Given the description of an element on the screen output the (x, y) to click on. 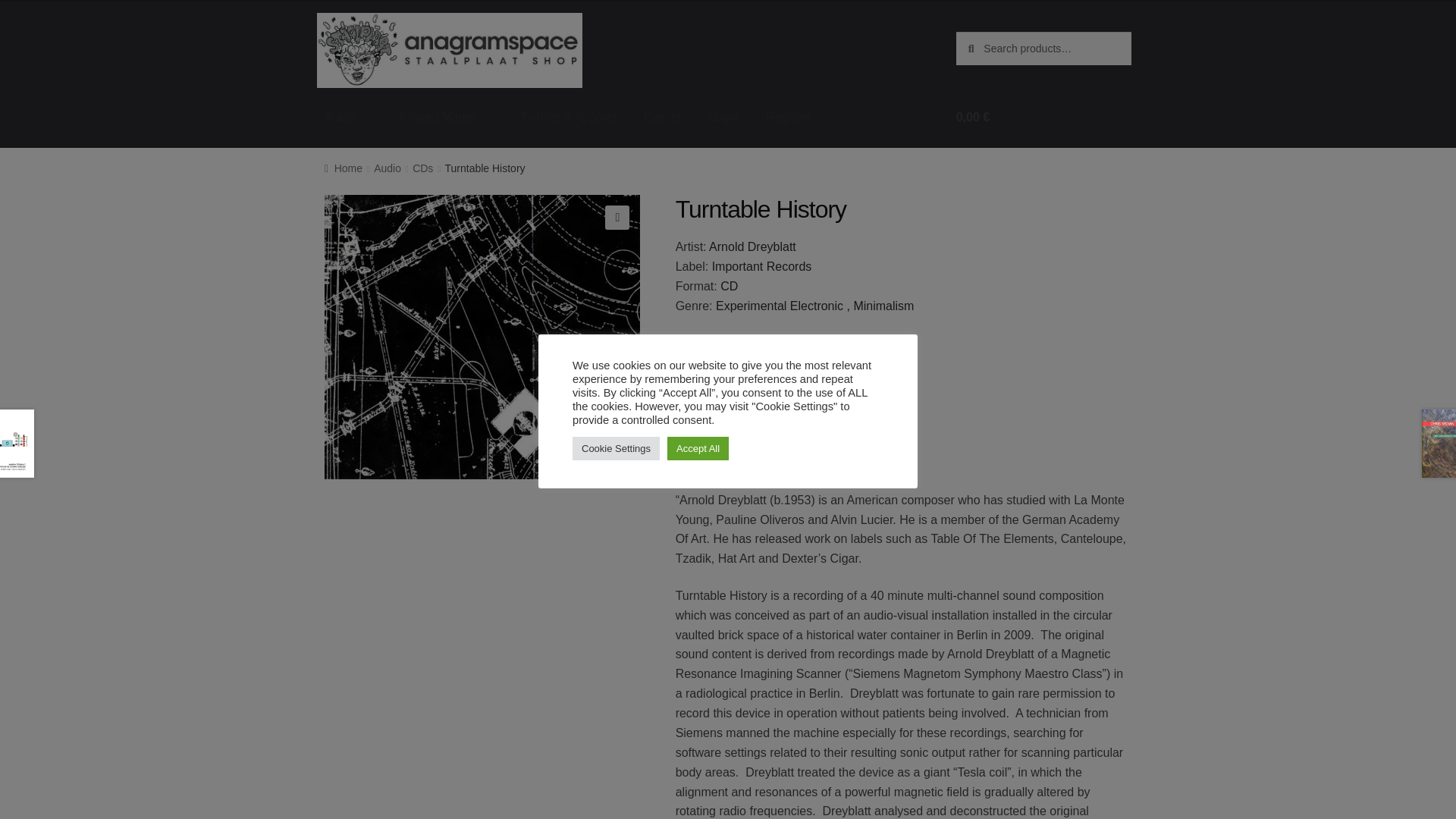
Home (343, 168)
View your shopping cart (1043, 117)
Printed Matter (445, 117)
Events (662, 117)
Login (722, 117)
Audio (387, 168)
Register (789, 117)
Arnold Dreyblatt Turntable History (482, 336)
Audio (348, 117)
